Given the description of an element on the screen output the (x, y) to click on. 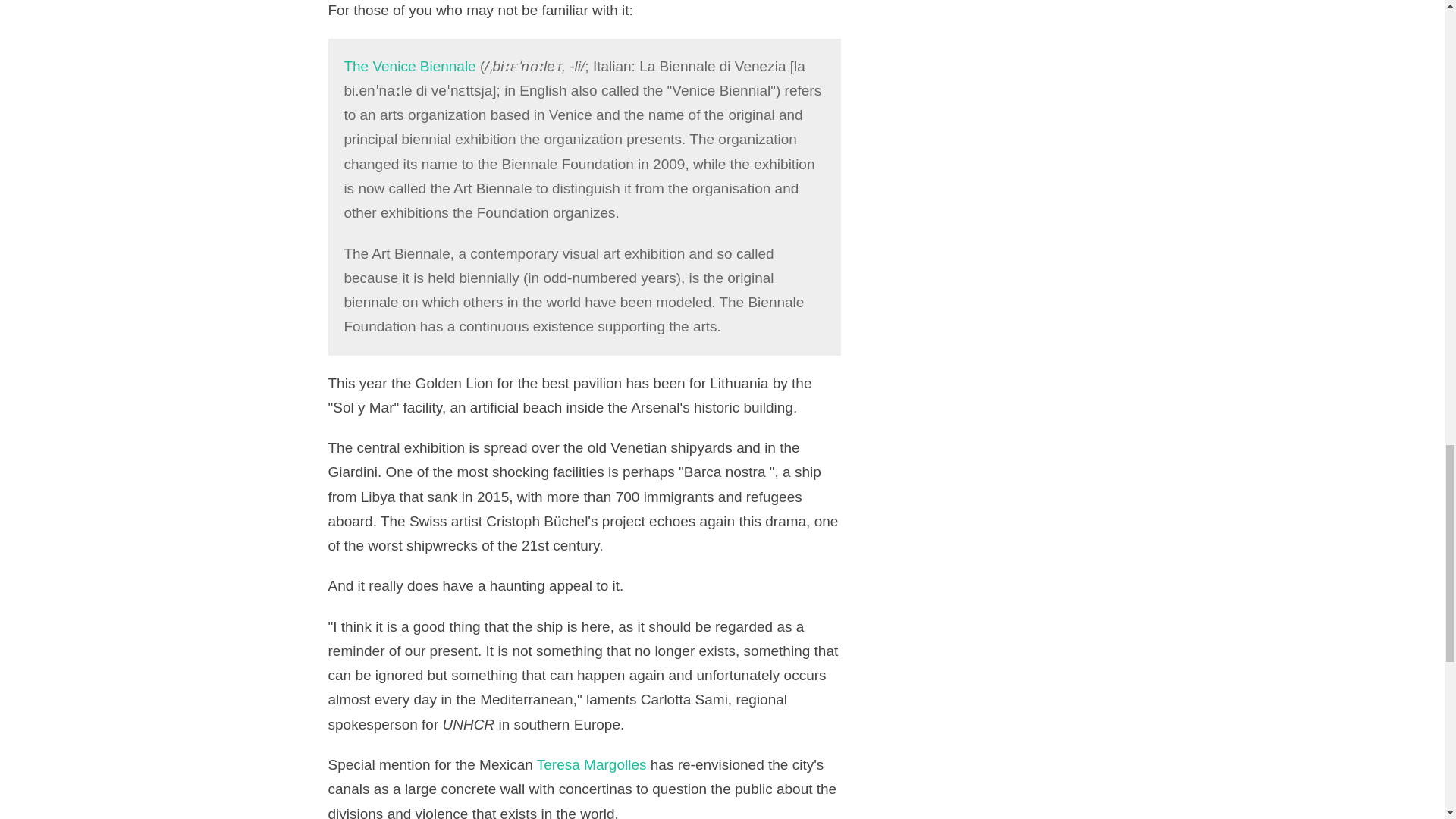
Teresa Margolles (591, 764)
The Venice Biennale (409, 66)
